Given the description of an element on the screen output the (x, y) to click on. 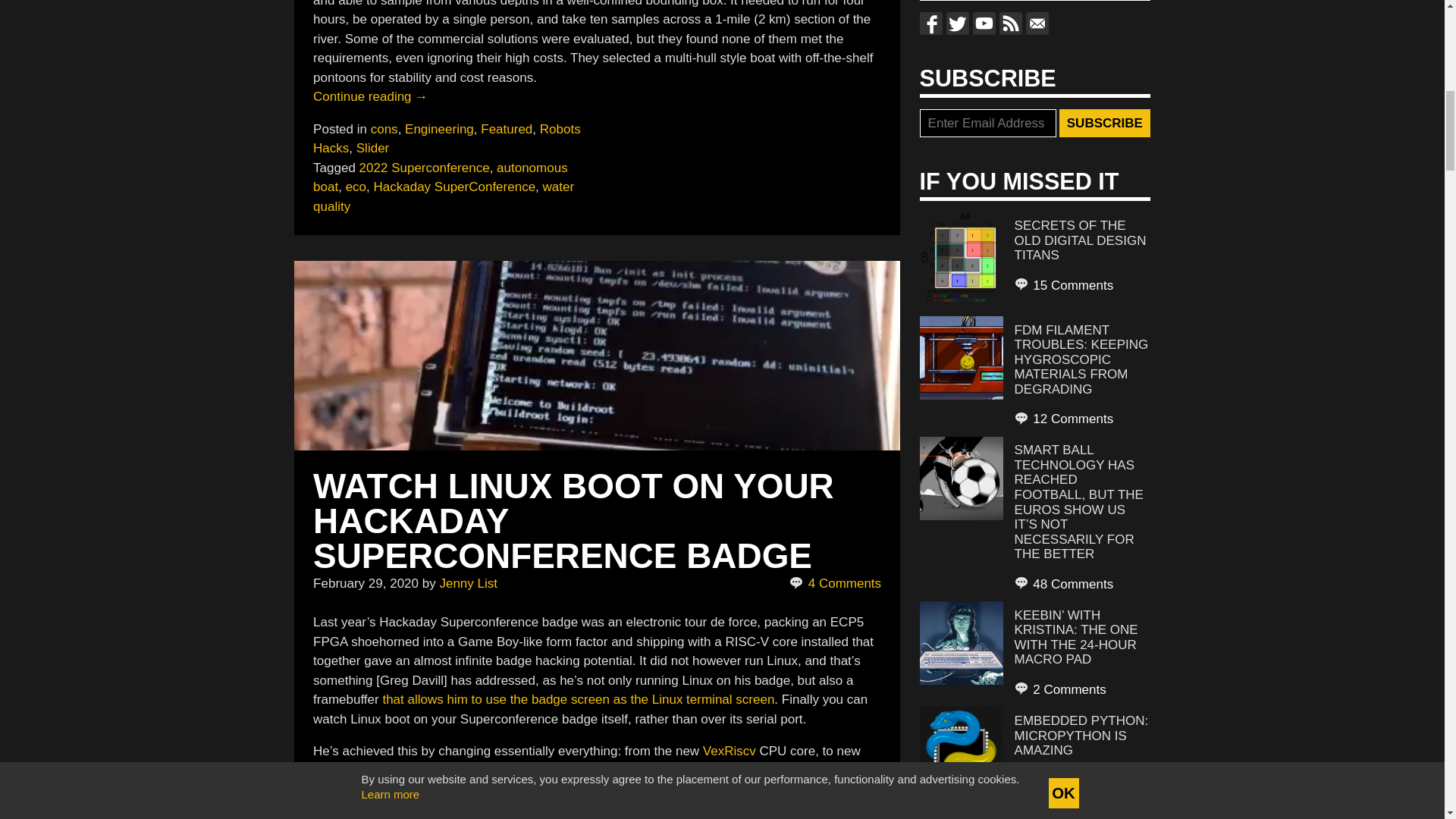
Hackaday SuperConference (454, 186)
eco (356, 186)
February 29, 2020 - 7:00 am (366, 583)
4 Comments (834, 583)
VexRiscv (729, 750)
Slider (372, 147)
Posts by Jenny List (468, 583)
a VGA terminal (457, 770)
Jenny List (468, 583)
February 29, 2020 (366, 583)
Robots Hacks (446, 139)
Featured (506, 129)
Subscribe (1104, 123)
autonomous boat (440, 177)
